Given the description of an element on the screen output the (x, y) to click on. 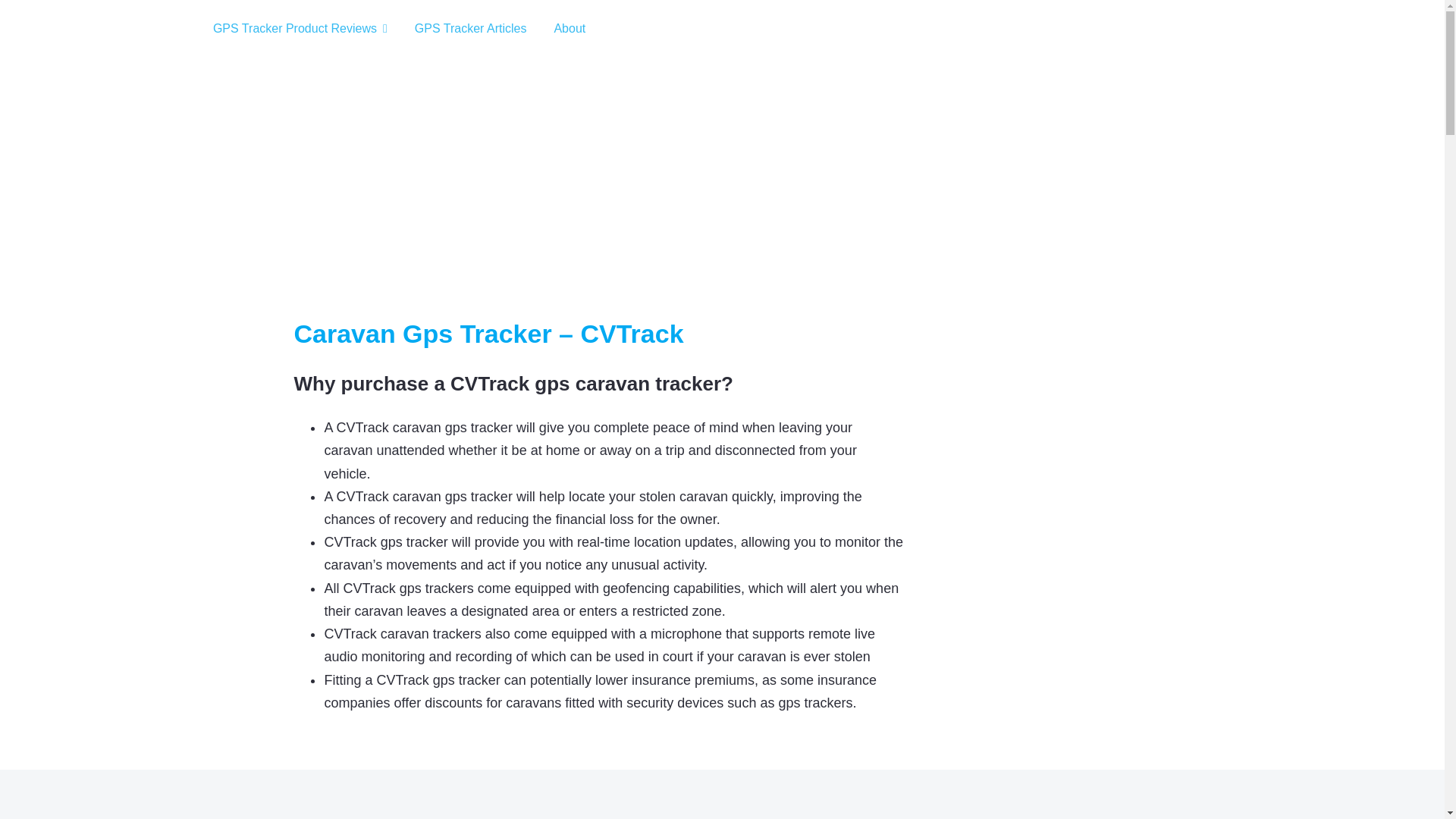
CVTRack-2 (1037, 562)
GPS Tracker Articles (470, 29)
GPS Tracker Product Reviews (299, 29)
About (569, 29)
